Given the description of an element on the screen output the (x, y) to click on. 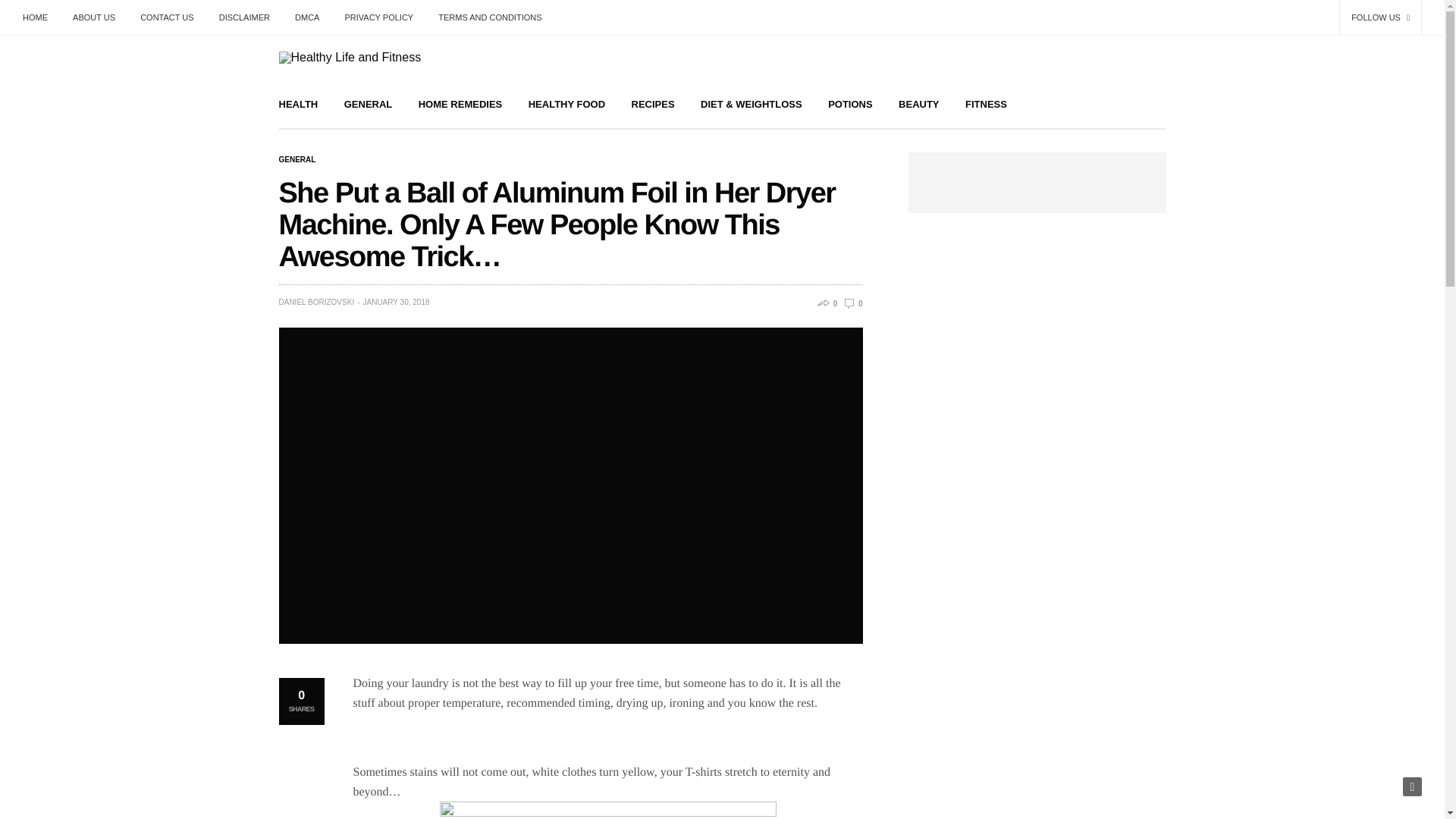
DISCLAIMER (244, 17)
DMCA (306, 17)
TERMS AND CONDITIONS (489, 17)
PRIVACY POLICY (379, 17)
GENERAL (368, 103)
HOME (41, 17)
BEAUTY (918, 103)
Posts by Daniel Borizovski (317, 302)
0 (852, 302)
CONTACT US (167, 17)
